Given the description of an element on the screen output the (x, y) to click on. 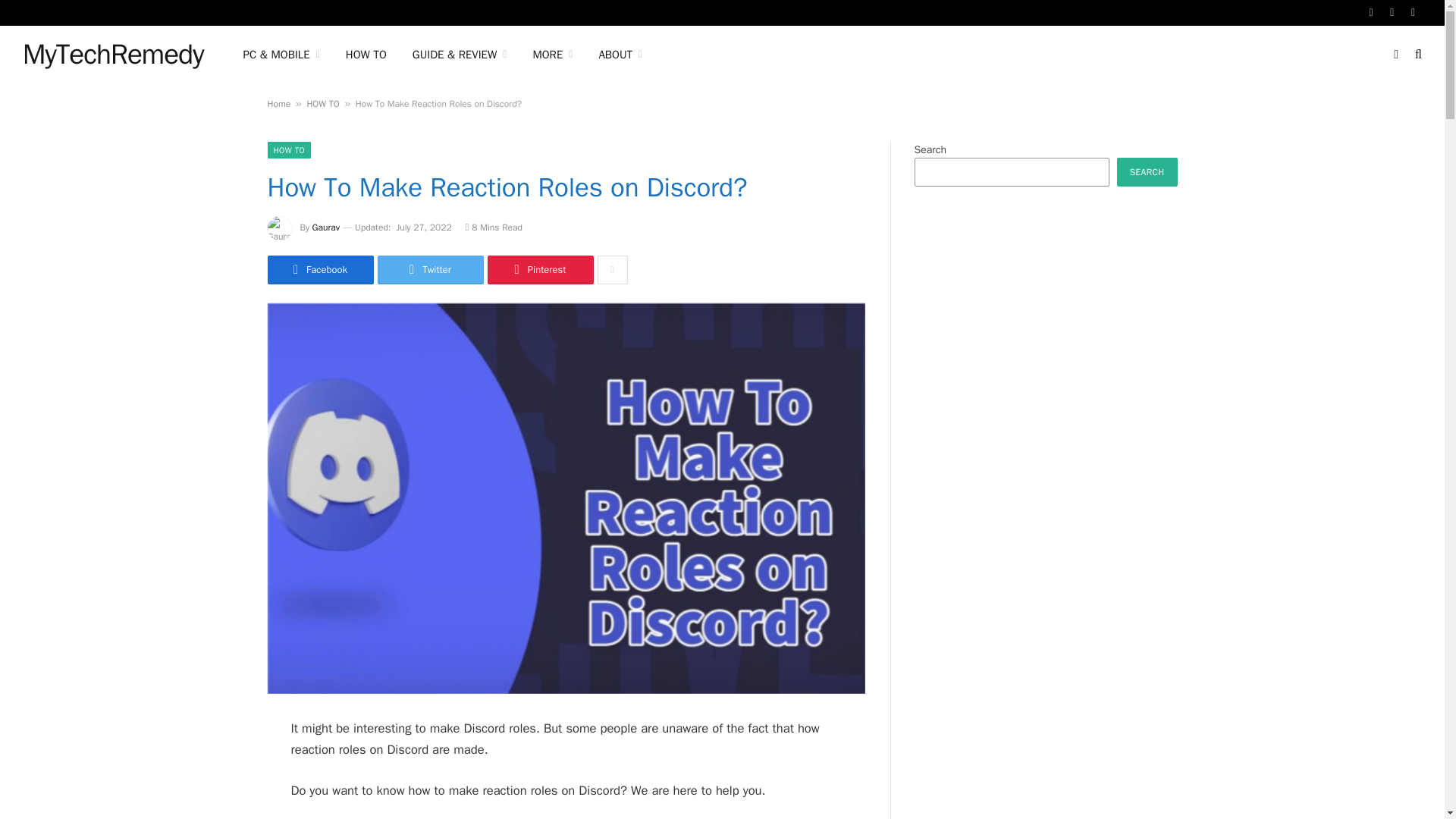
Posts by Gaurav (326, 227)
Share on Pinterest (539, 269)
Switch to Dark Design - easier on eyes. (1396, 54)
HOW TO (365, 54)
MyTechRemedy (113, 54)
Share on Facebook (319, 269)
MORE (552, 54)
MyTechRemedy (113, 54)
ABOUT (620, 54)
